Given the description of an element on the screen output the (x, y) to click on. 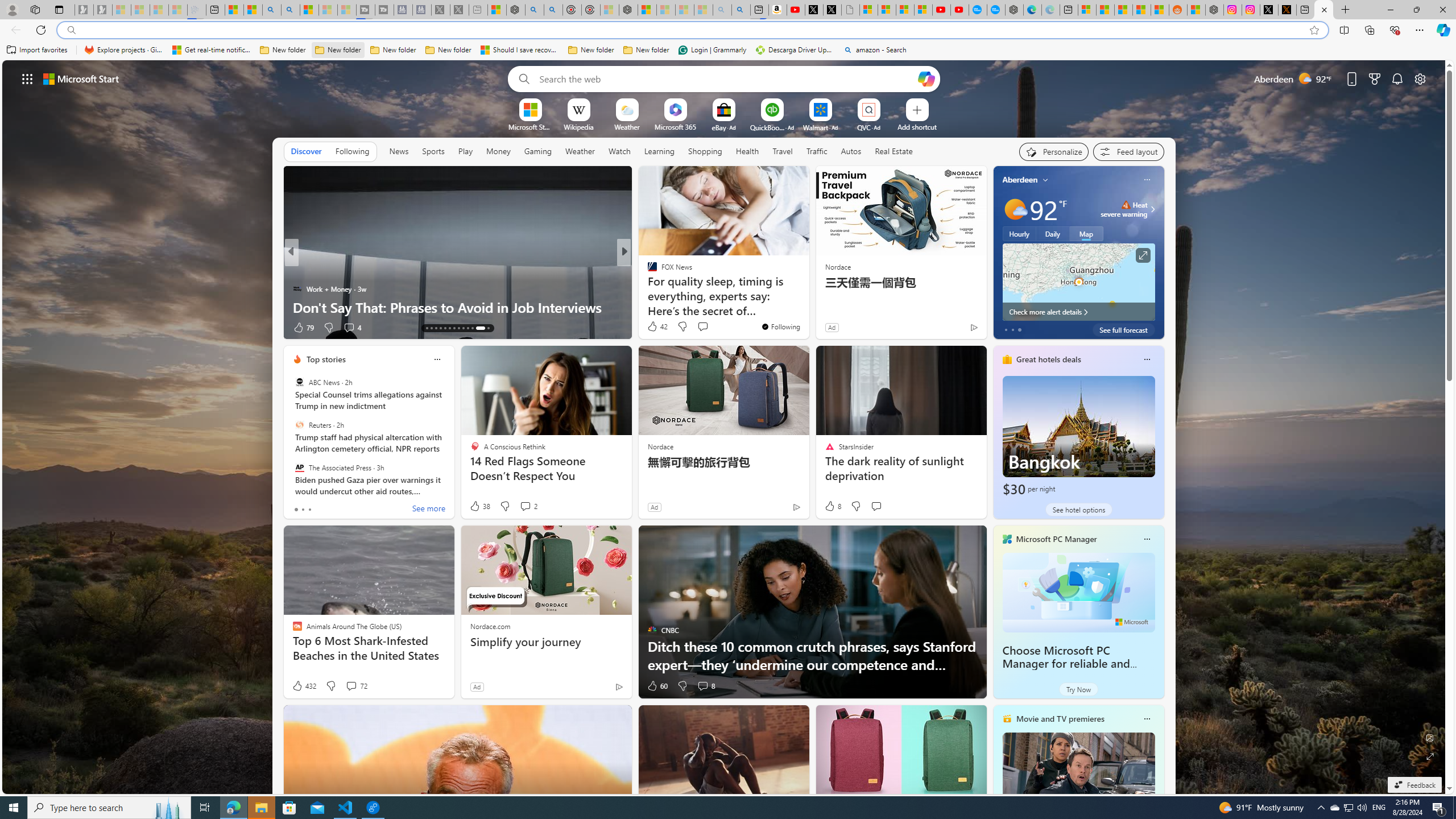
Reuters (299, 424)
60 Like (657, 685)
View comments 4 Comment (351, 327)
AutomationID: backgroundImagePicture (723, 426)
AutomationID: tab-22 (467, 328)
Import favorites (36, 49)
AutomationID: tab-20 (458, 328)
Log in to X / X (1268, 9)
Class: control (27, 78)
ABC News (299, 382)
